Given the description of an element on the screen output the (x, y) to click on. 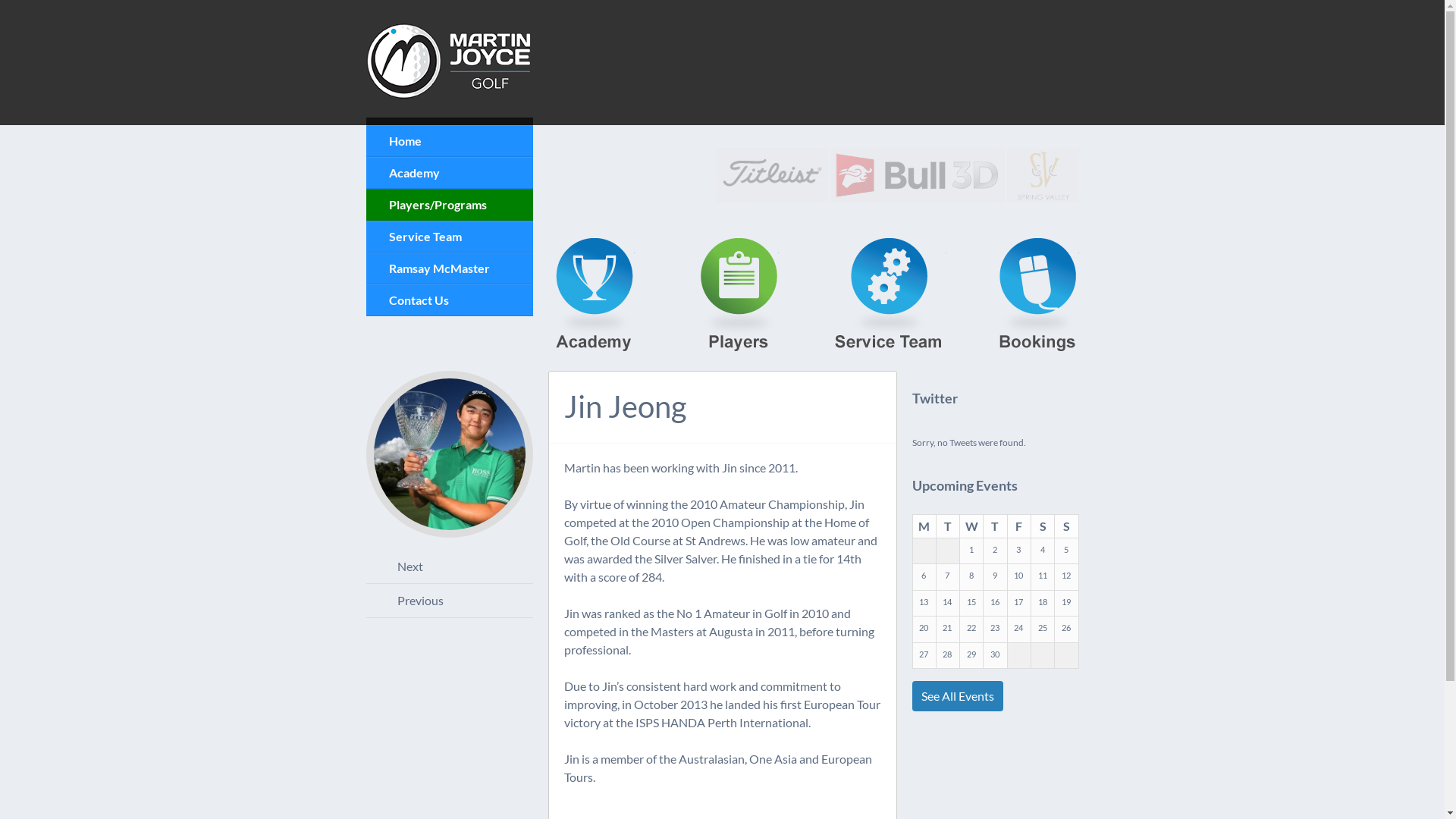
Players/Programs Element type: text (448, 204)
Home Element type: text (448, 140)
Players Element type: text (737, 297)
Service Team Element type: text (448, 236)
See All Events Element type: text (956, 695)
Ramsay McMaster Element type: text (448, 268)
Next Element type: text (448, 566)
Contact Us Element type: text (448, 300)
The Academy Element type: text (593, 297)
Booking Element type: text (1038, 297)
Service Team Element type: text (887, 297)
Academy Element type: text (448, 172)
Previous Element type: text (448, 600)
